Given the description of an element on the screen output the (x, y) to click on. 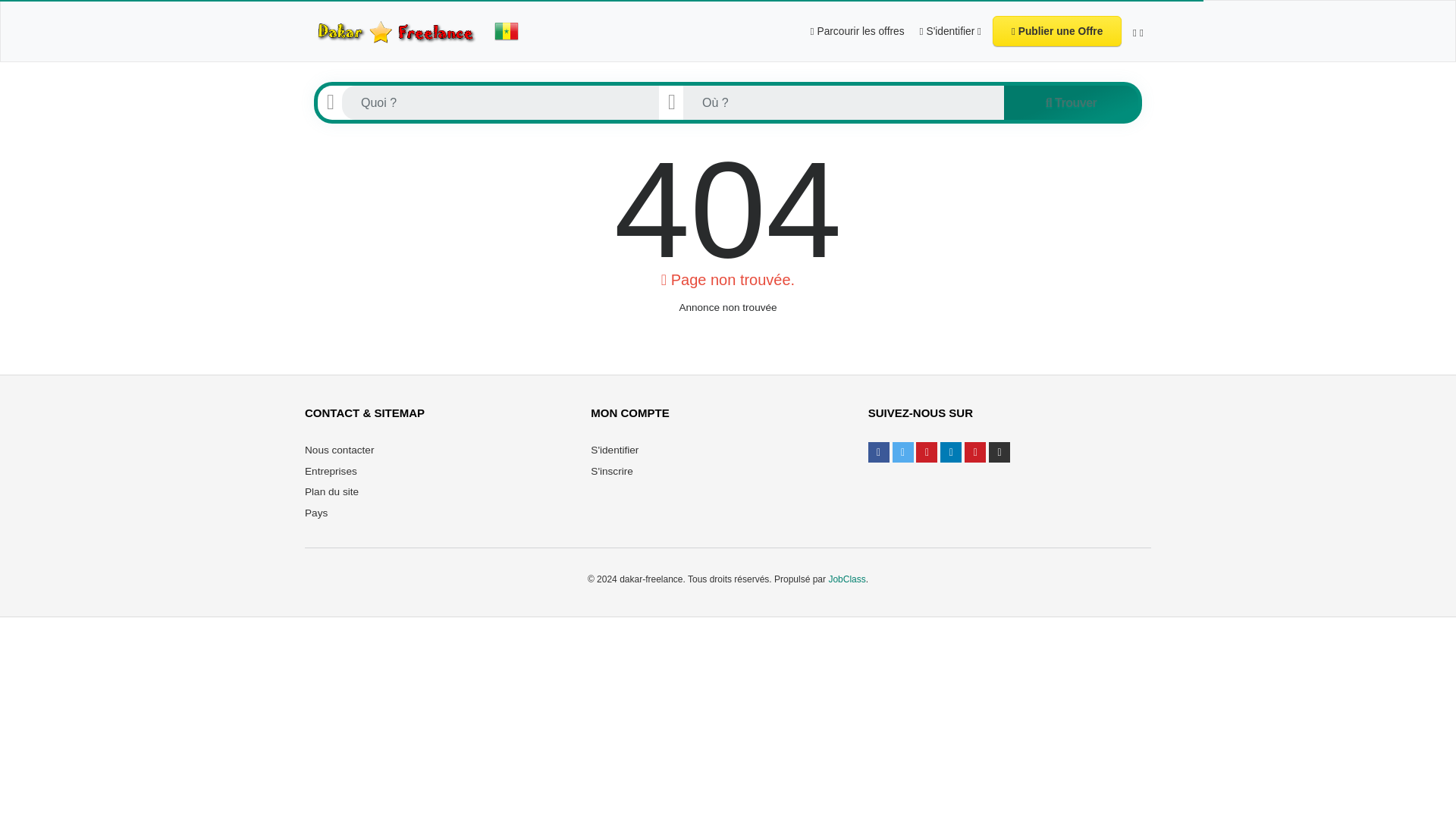
JobClass (846, 579)
S'identifier (615, 449)
Pays (315, 512)
Tiktok (999, 452)
JobClass (846, 579)
Parcourir les offres (857, 30)
S'inscrire (611, 471)
Trouver (1071, 103)
Instagram (926, 452)
Plan du site (331, 491)
